Given the description of an element on the screen output the (x, y) to click on. 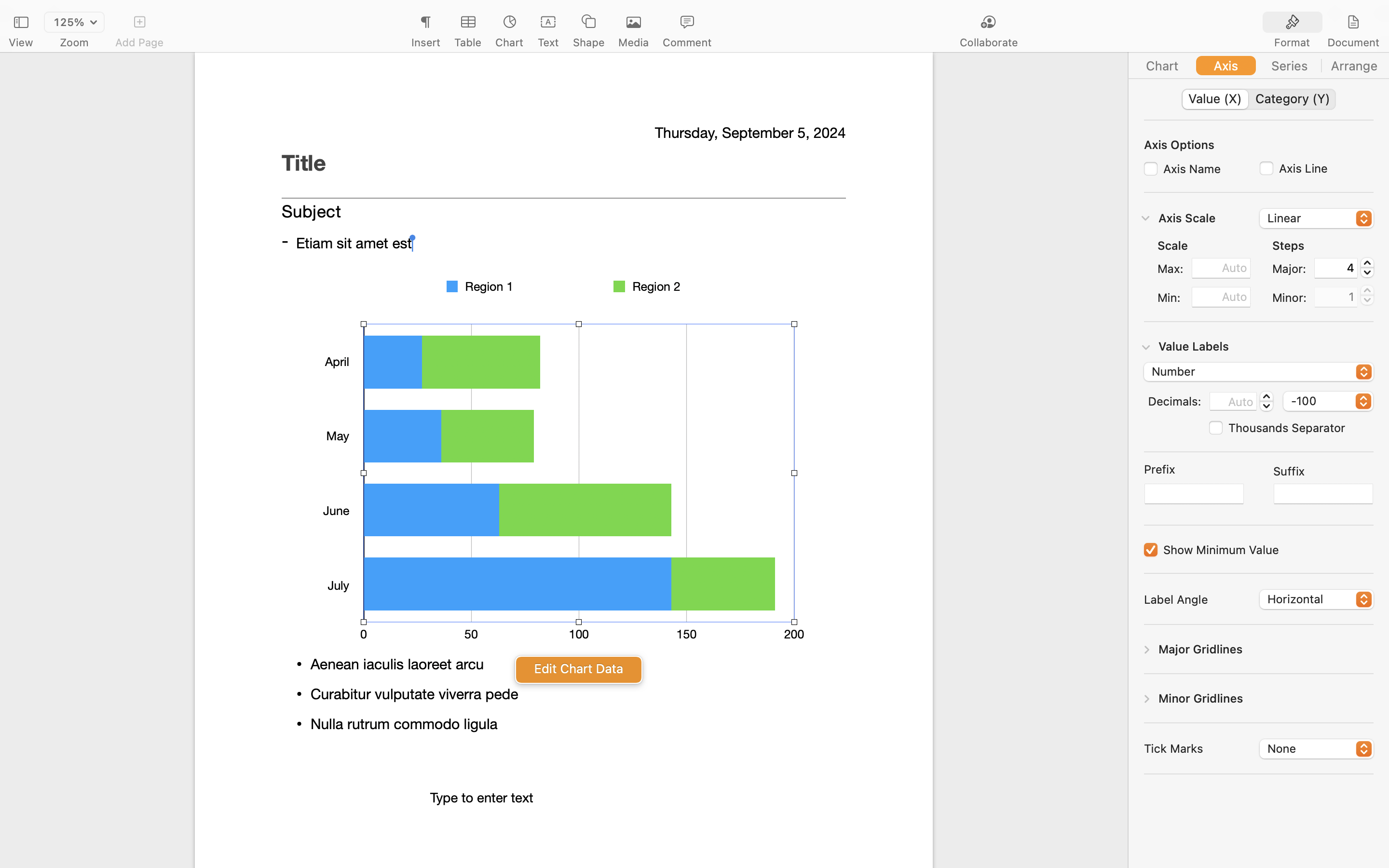
Document Element type: AXStaticText (1352, 42)
0.0 Element type: AXIncrementor (1265, 400)
